Given the description of an element on the screen output the (x, y) to click on. 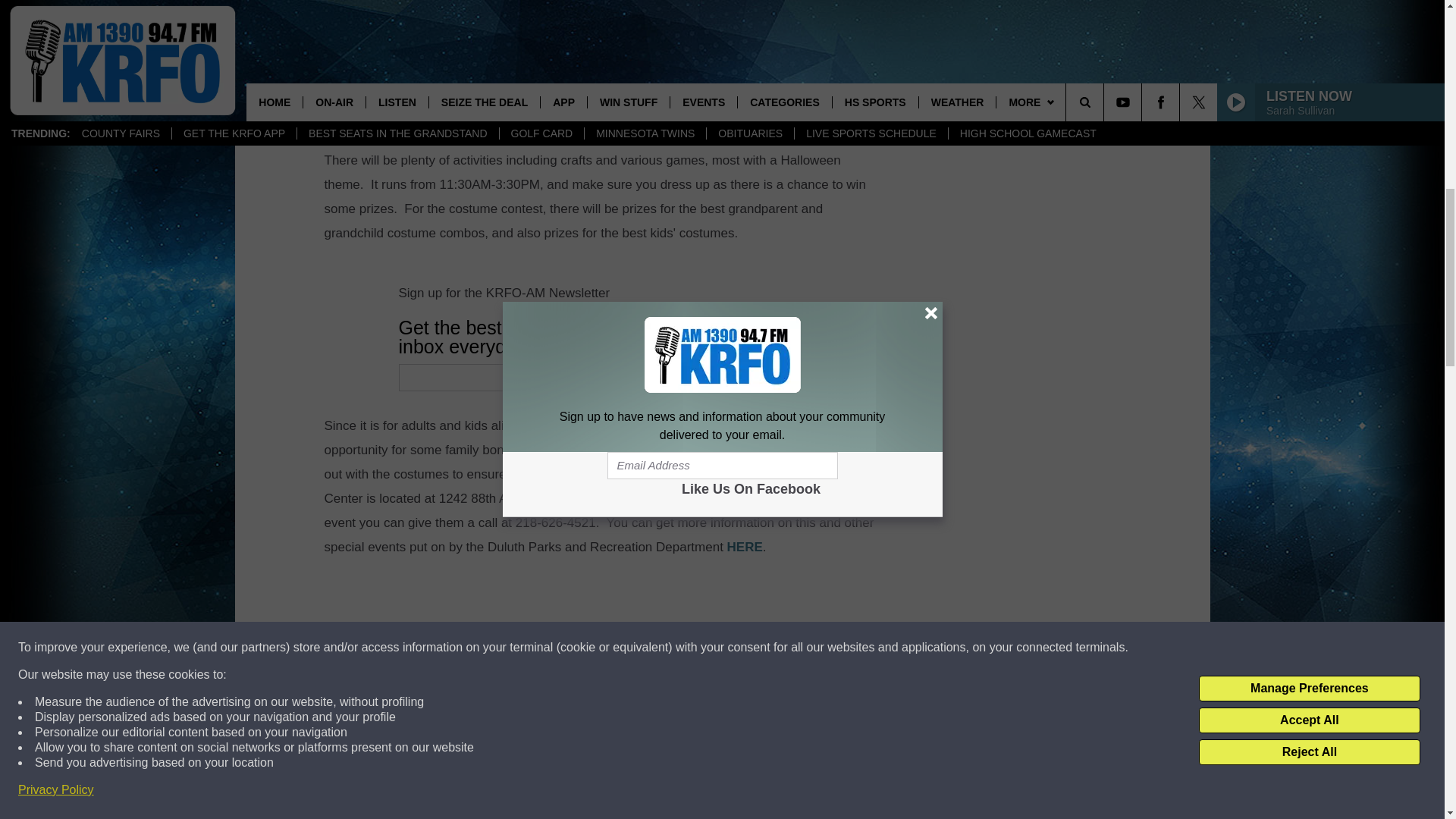
Email Address (669, 377)
